Given the description of an element on the screen output the (x, y) to click on. 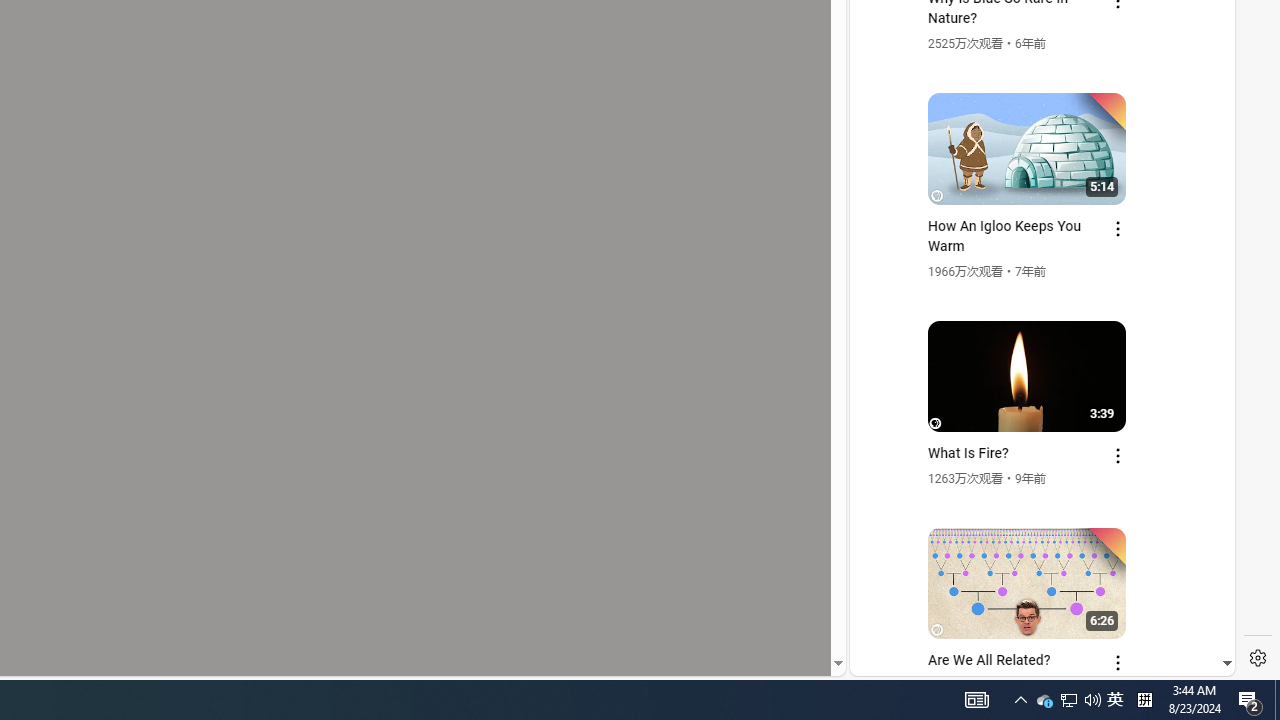
YouTube - YouTube (1034, 266)
